Given the description of an element on the screen output the (x, y) to click on. 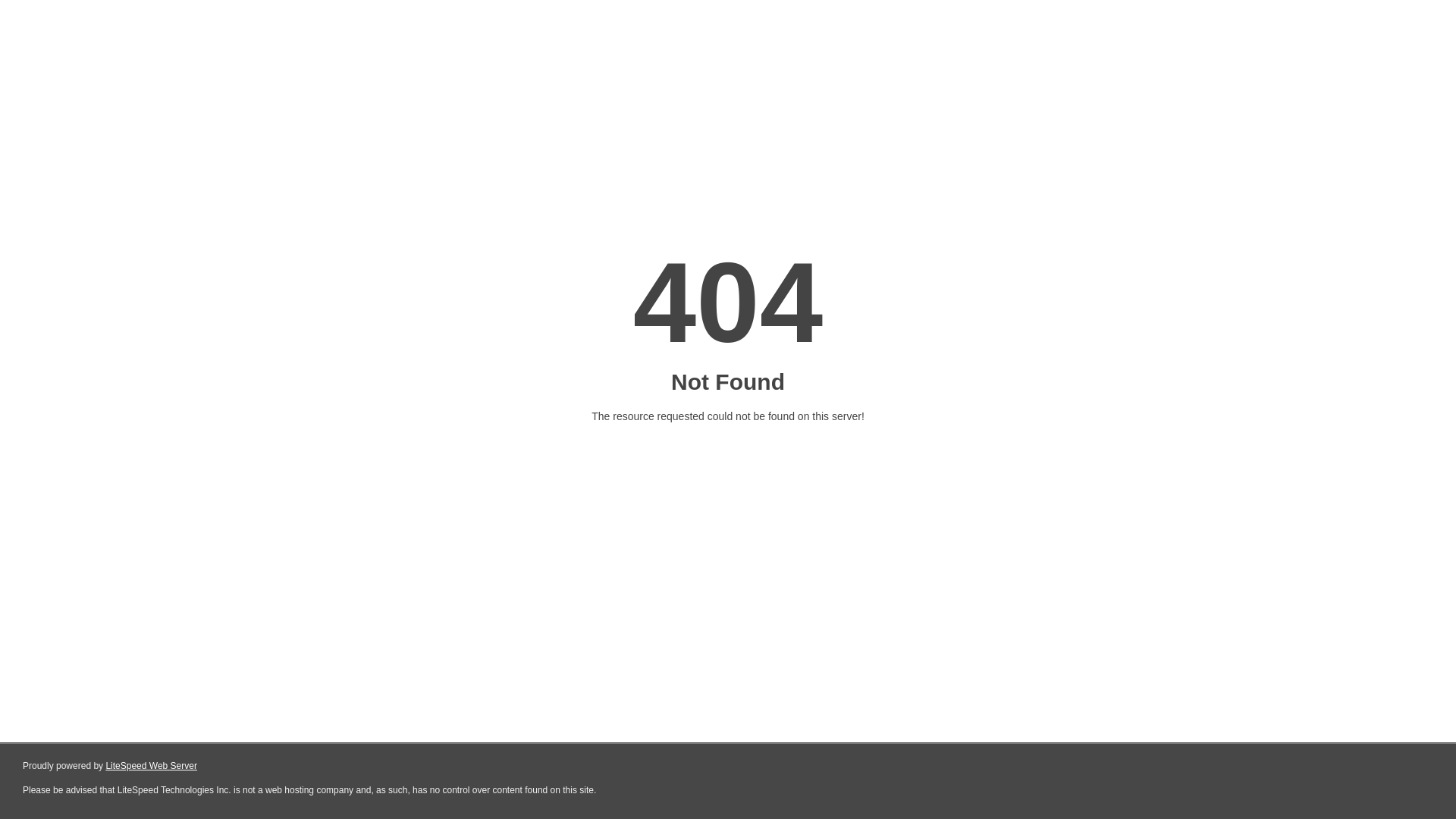
LiteSpeed Web Server Element type: text (151, 765)
